Given the description of an element on the screen output the (x, y) to click on. 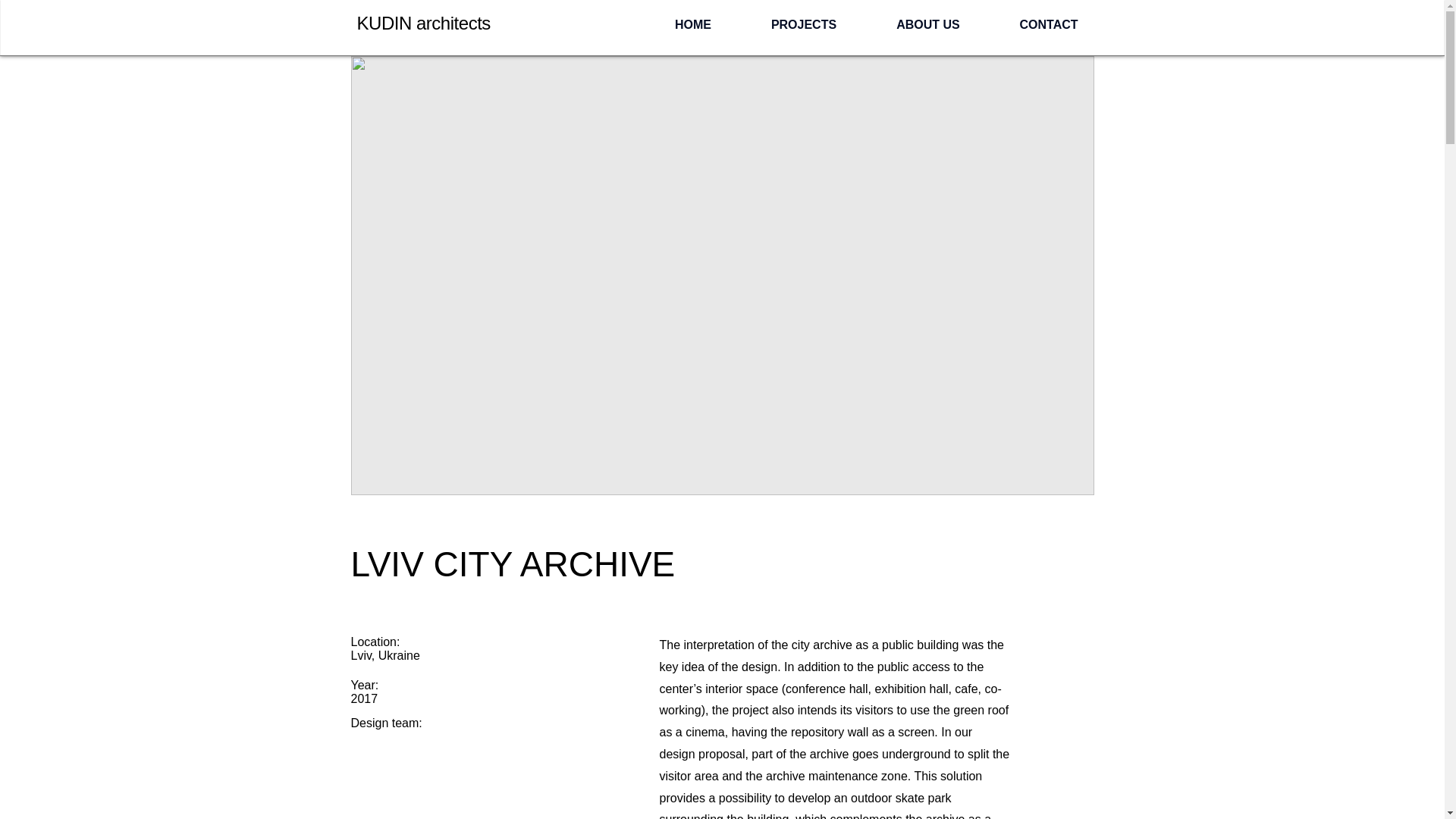
ABOUT US (928, 24)
KUDIN architects (422, 23)
HOME (693, 24)
PROJECTS (803, 24)
CONTACT (1049, 24)
